Given the description of an element on the screen output the (x, y) to click on. 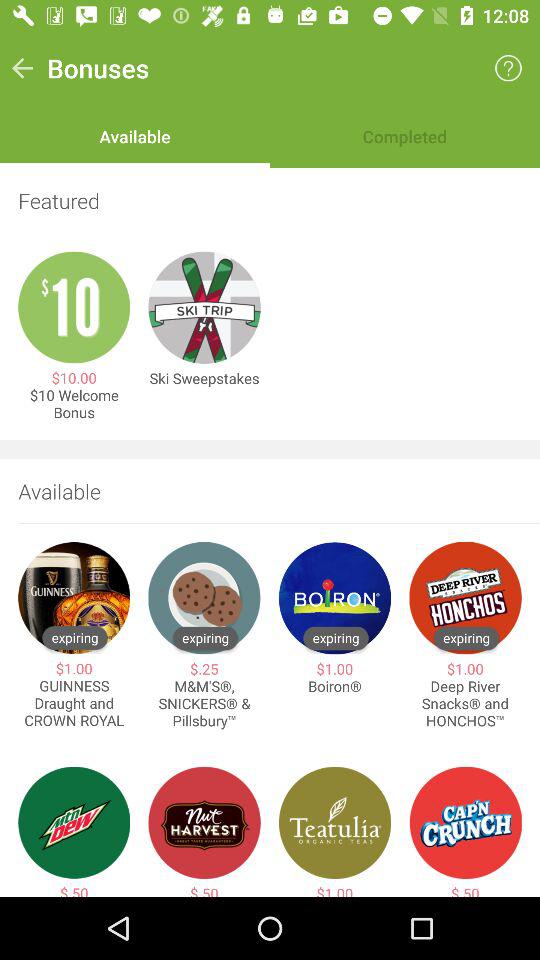
swipe to m m s (204, 704)
